Given the description of an element on the screen output the (x, y) to click on. 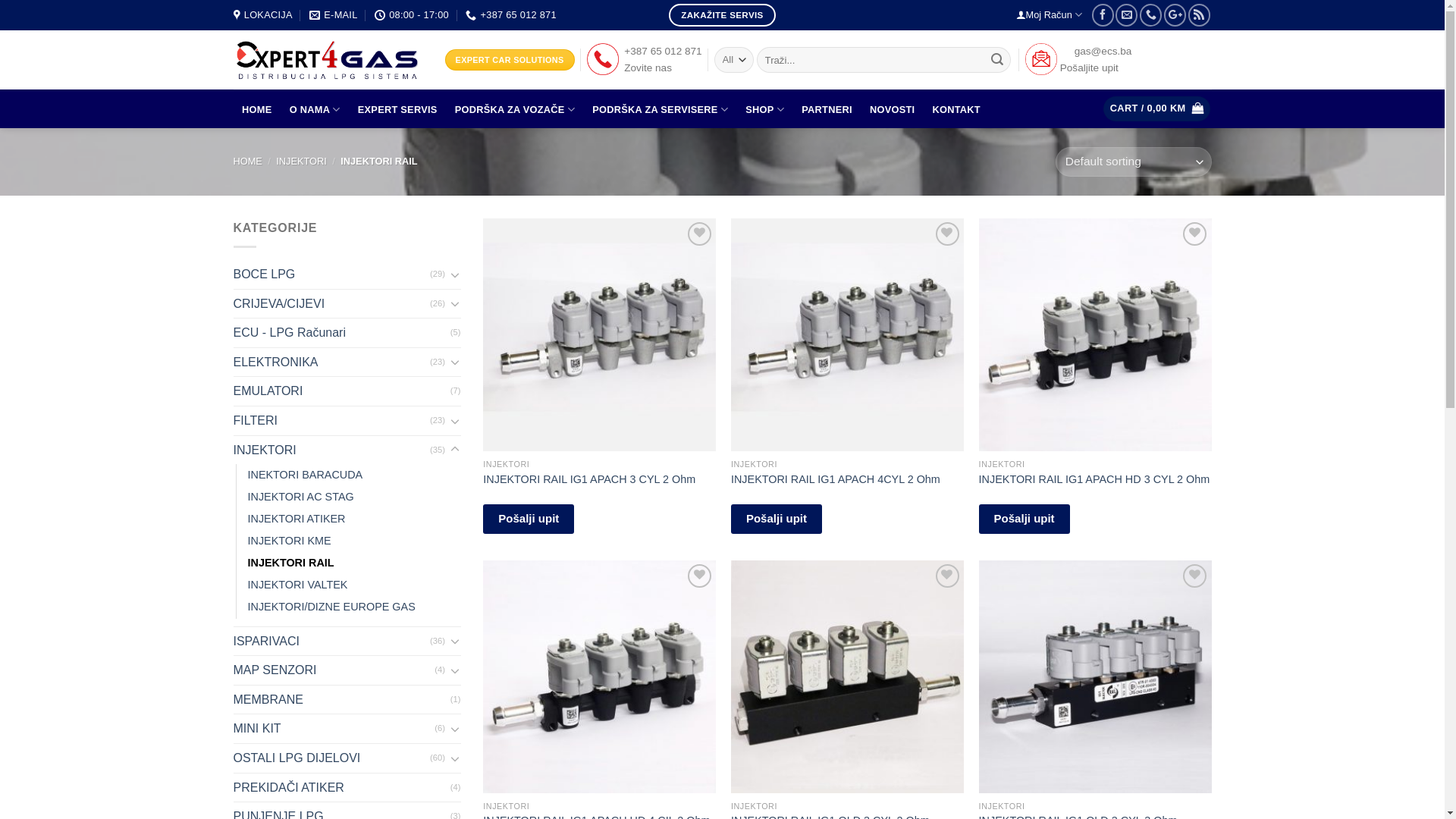
INJEKTORI VALTEK Element type: text (297, 585)
O NAMA Element type: text (314, 109)
OSTALI LPG DIJELOVI Element type: text (331, 757)
INJEKTORI Element type: text (301, 160)
INJEKTORI RAIL IG1 APACH 4CYL 2 Ohm Element type: text (835, 479)
SHOP Element type: text (765, 109)
MAP SENZORI Element type: text (334, 669)
INJEKTORI RAIL IG1 APACH HD 3 CYL 2 Ohm Element type: text (1094, 479)
BOCE LPG Element type: text (331, 274)
EXPERT SERVIS Element type: text (396, 109)
INJEKTORI AC STAG Element type: text (300, 497)
NOVOSTI Element type: text (891, 109)
ELEKTRONIKA Element type: text (331, 362)
INJEKTORI ATIKER Element type: text (296, 519)
INJEKTORI KME Element type: text (288, 541)
INJEKTORI/DIZNE EUROPE GAS Element type: text (330, 607)
INJEKTORI RAIL IG1 APACH 3 CYL 2 Ohm Element type: text (589, 479)
HOME Element type: text (247, 160)
CRIJEVA/CIJEVI Element type: text (331, 303)
MINI KIT Element type: text (334, 728)
EMULATORI Element type: text (341, 390)
LOKACIJA Element type: text (262, 14)
E-MAIL Element type: text (333, 14)
+387 65 012 871 Element type: text (510, 14)
KONTAKT Element type: text (956, 109)
CART / 0,00 KM Element type: text (1156, 108)
EXPERT CAR SOLUTIONS Element type: text (509, 59)
Expert 4 Gas - Distribucija LPG siteme, dijelova i opreme Element type: hover (327, 59)
INEKTORI BARACUDA Element type: text (304, 475)
INJEKTORI Element type: text (331, 450)
ISPARIVACI Element type: text (331, 641)
HOME Element type: text (257, 109)
PARTNERI Element type: text (827, 109)
MEMBRANE Element type: text (341, 699)
08:00 - 17:00 Element type: text (411, 14)
FILTERI Element type: text (331, 420)
INJEKTORI RAIL Element type: text (290, 563)
